Given the description of an element on the screen output the (x, y) to click on. 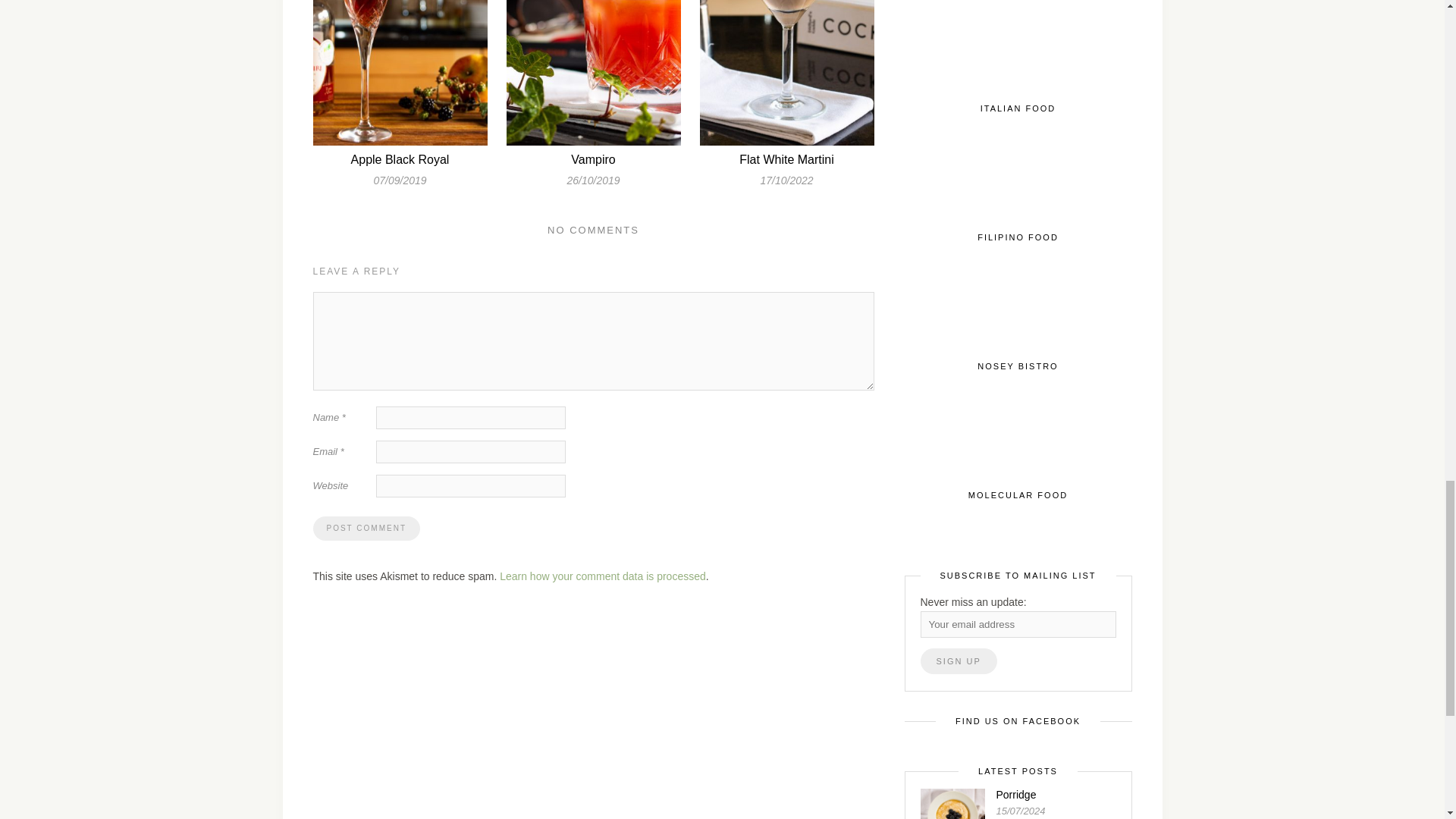
Post Comment (366, 528)
Sign up (958, 661)
